Given the description of an element on the screen output the (x, y) to click on. 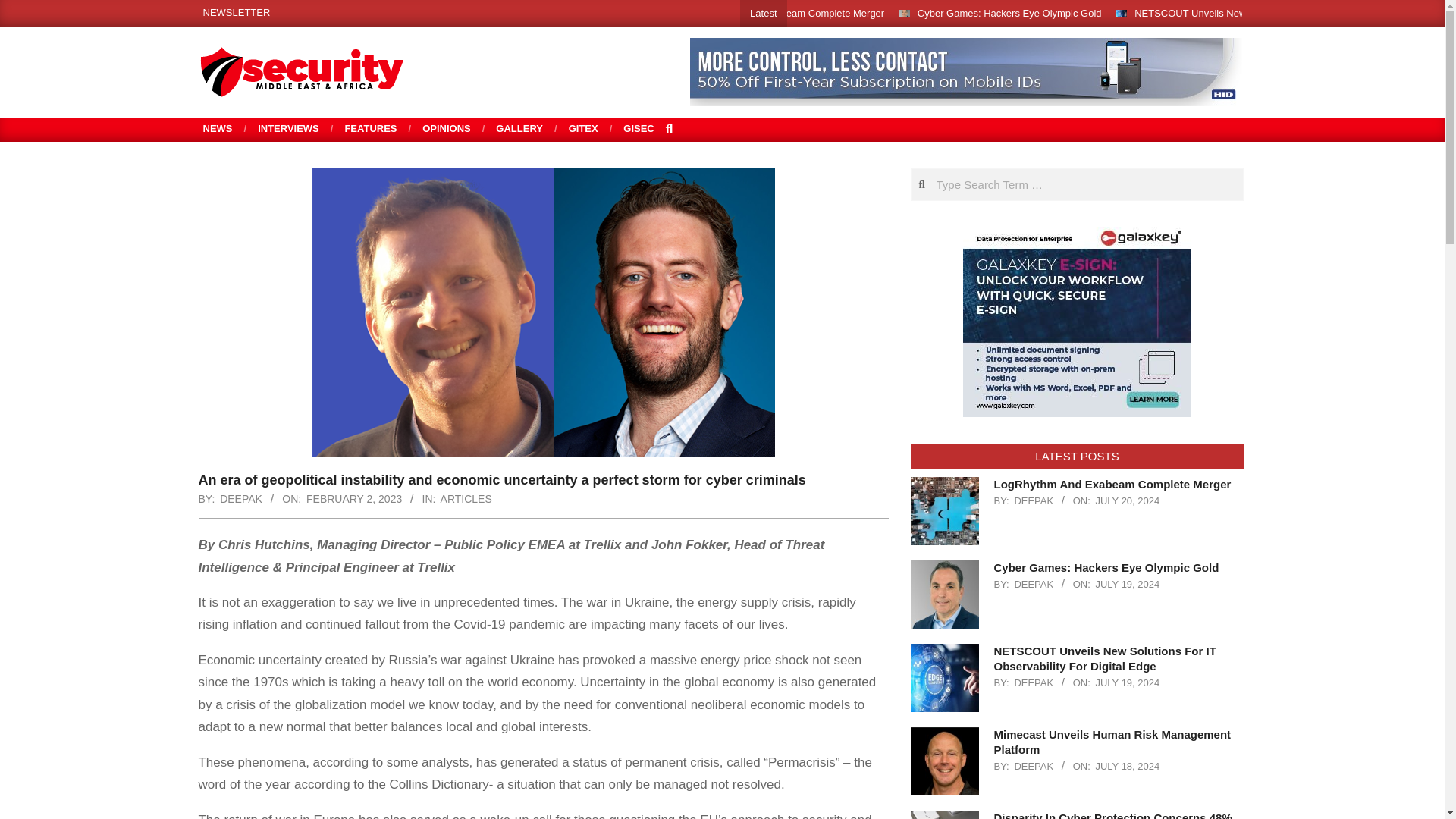
Posts by Deepak (1032, 583)
Friday, July 19, 2024, 11:41 am (1126, 583)
Thursday, February 2, 2023, 10:07 am (353, 499)
Posts by Deepak (240, 499)
Posts by Deepak (1032, 682)
LogRhythm And Exabeam Complete Merger (786, 12)
Friday, July 19, 2024, 9:08 am (1126, 682)
Cyber Games: Hackers Eye Olympic Gold (1009, 12)
Saturday, July 20, 2024, 8:30 am (1126, 500)
Posts by Deepak (1032, 766)
NEWSLETTER (236, 12)
Posts by Deepak (1032, 500)
Thursday, July 18, 2024, 4:03 pm (1126, 766)
